Given the description of an element on the screen output the (x, y) to click on. 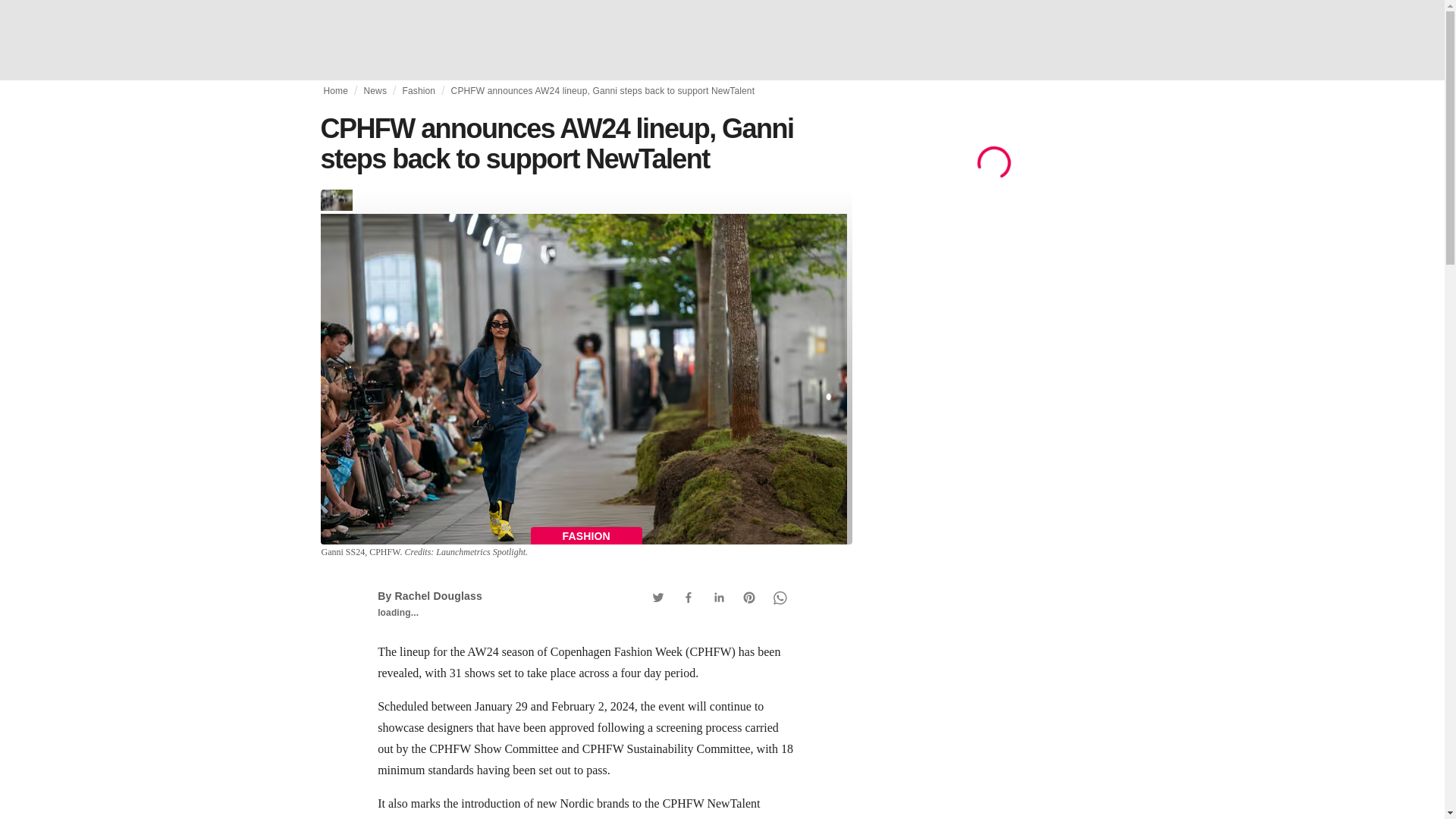
Fashion (418, 90)
News (375, 90)
By Rachel Douglass (429, 595)
Home (335, 90)
